Given the description of an element on the screen output the (x, y) to click on. 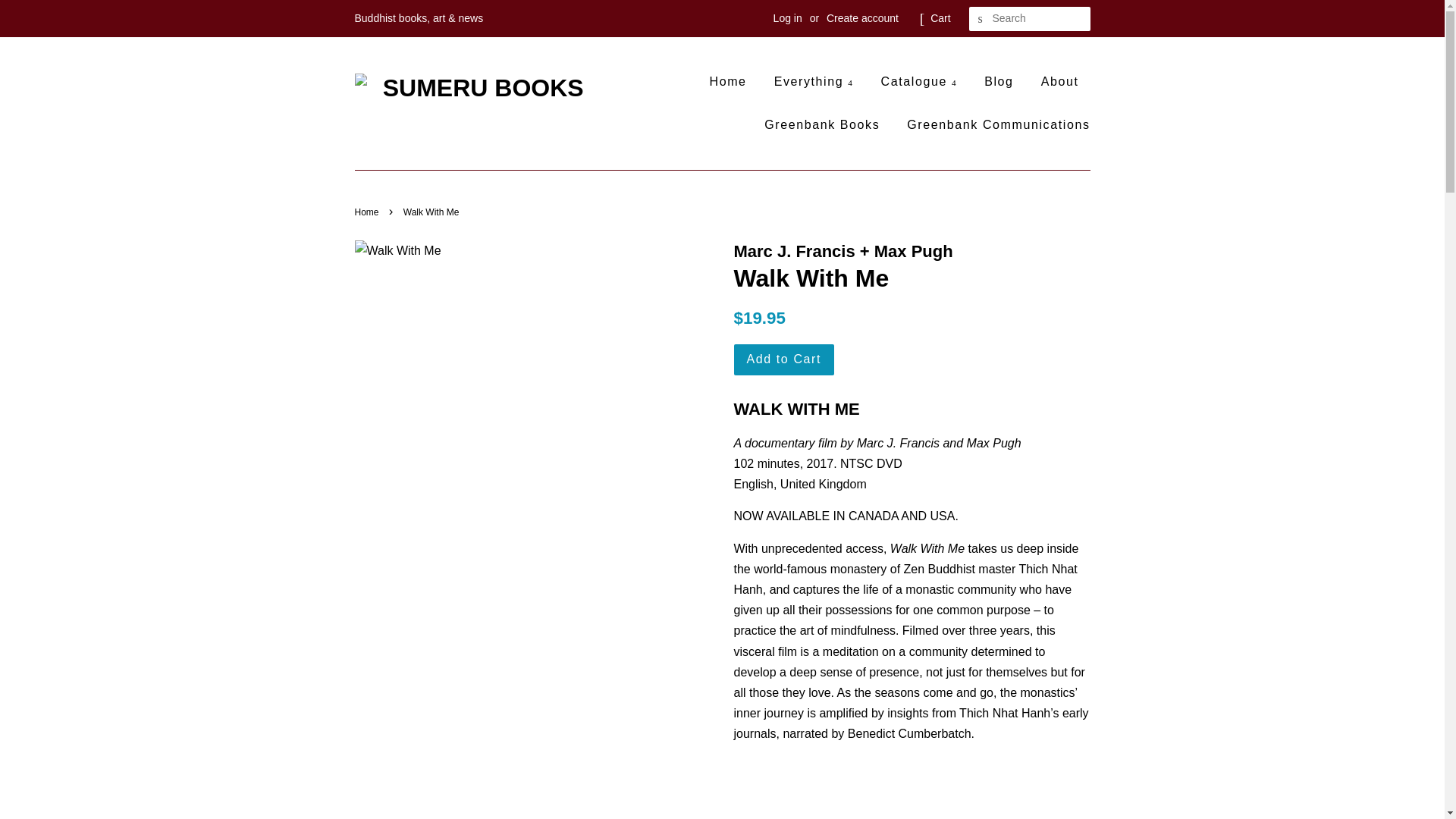
Create account (862, 18)
Catalogue (919, 81)
Back to the frontpage (368, 212)
Log in (787, 18)
Home (734, 81)
Cart (940, 18)
Search (980, 18)
Everything (813, 81)
